Given the description of an element on the screen output the (x, y) to click on. 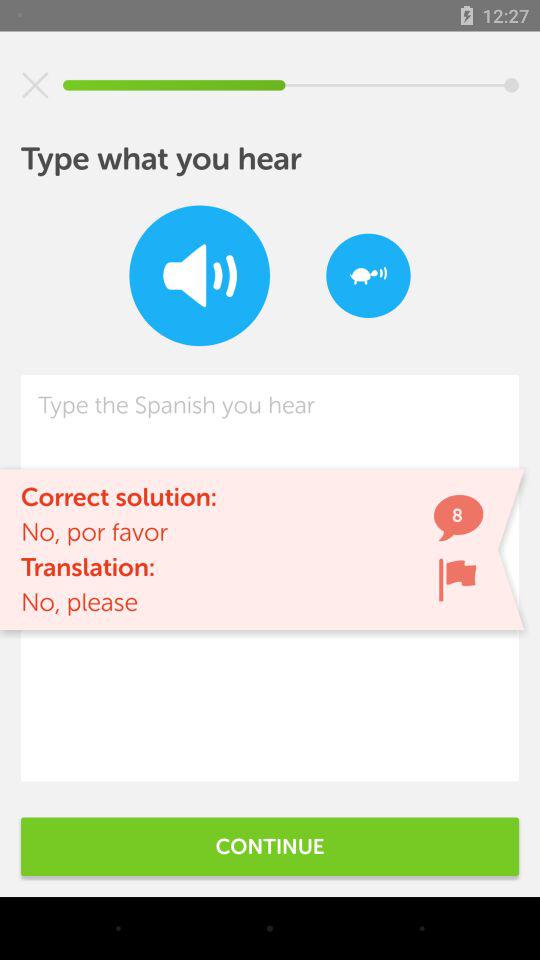
press icon next to no, por favor icon (457, 579)
